Given the description of an element on the screen output the (x, y) to click on. 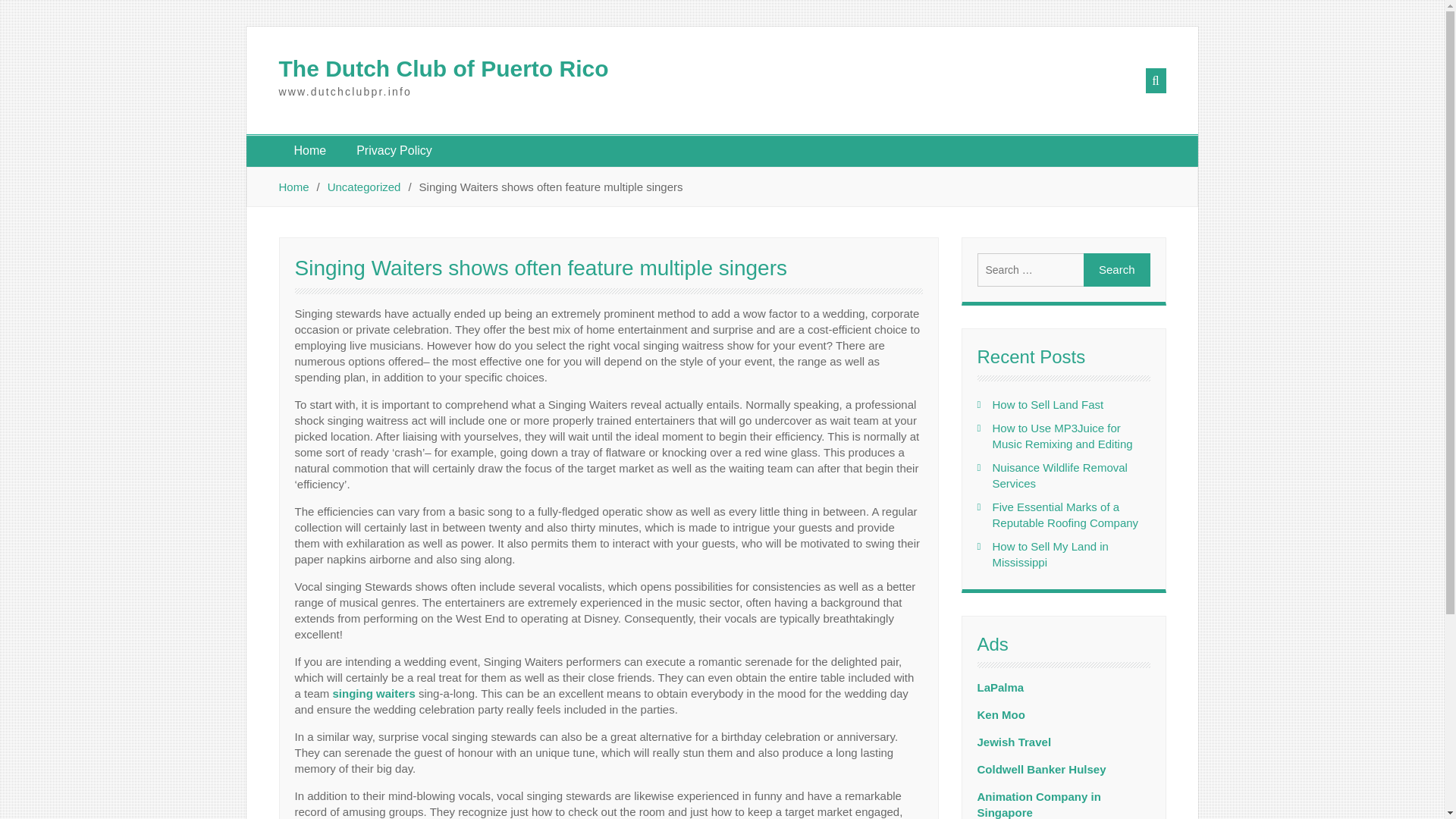
Uncategorized (364, 186)
The Dutch Club of Puerto Rico (443, 68)
LaPalma (999, 686)
Home (293, 186)
Ken Moo (1000, 714)
Home (310, 151)
How to Use MP3Juice for Music Remixing and Editing (1061, 435)
Coldwell Banker Hulsey (1040, 768)
Jewish Travel (1013, 741)
